Given the description of an element on the screen output the (x, y) to click on. 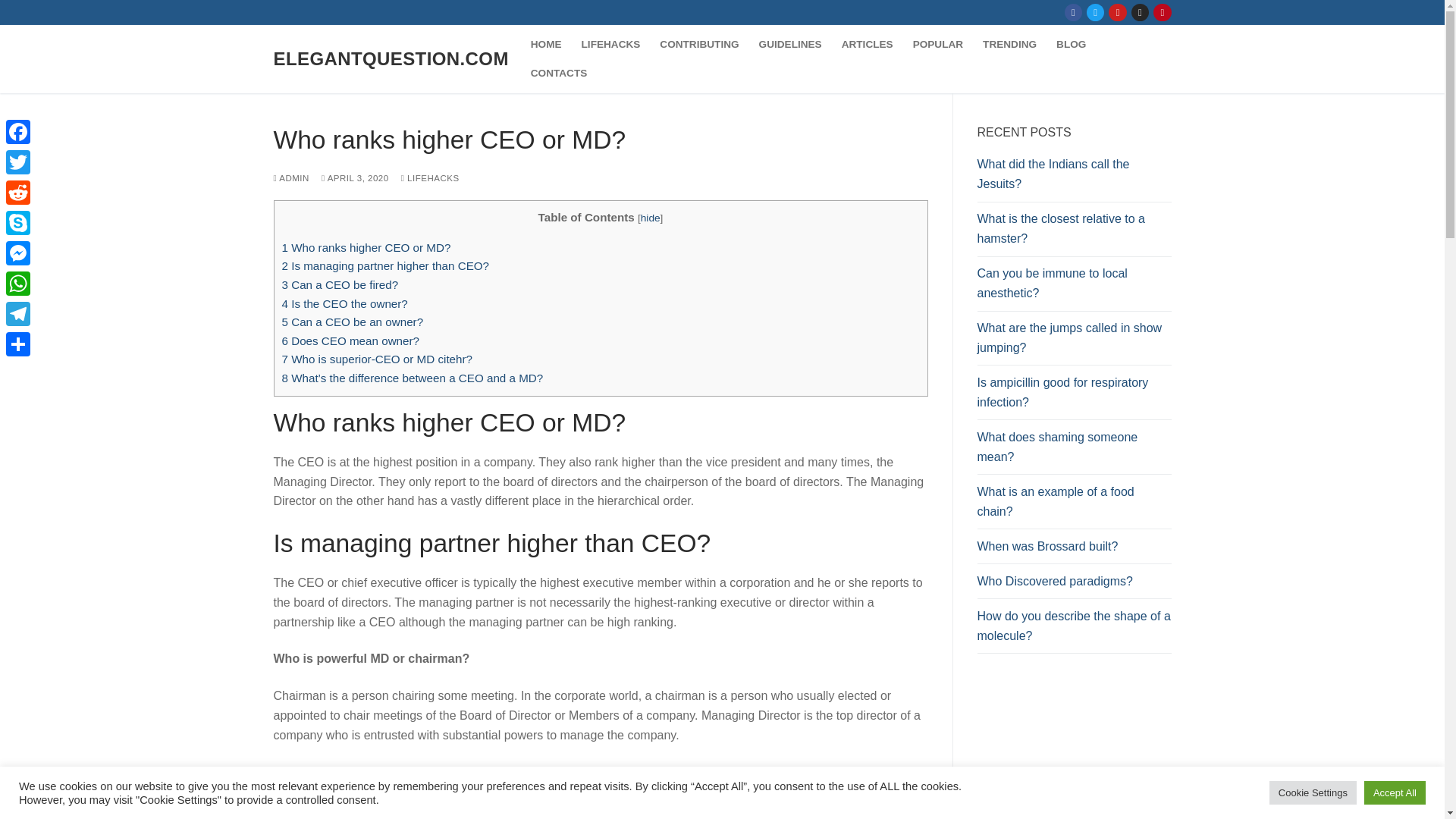
BLOG (1071, 44)
Pinterest (1162, 12)
LIFEHACKS (430, 177)
APRIL 3, 2020 (354, 177)
5 Can a CEO be an owner? (352, 321)
2 Is managing partner higher than CEO? (385, 265)
Facebook (1073, 12)
3 Can a CEO be fired? (340, 284)
ADMIN (290, 177)
Youtube (1117, 12)
